Given the description of an element on the screen output the (x, y) to click on. 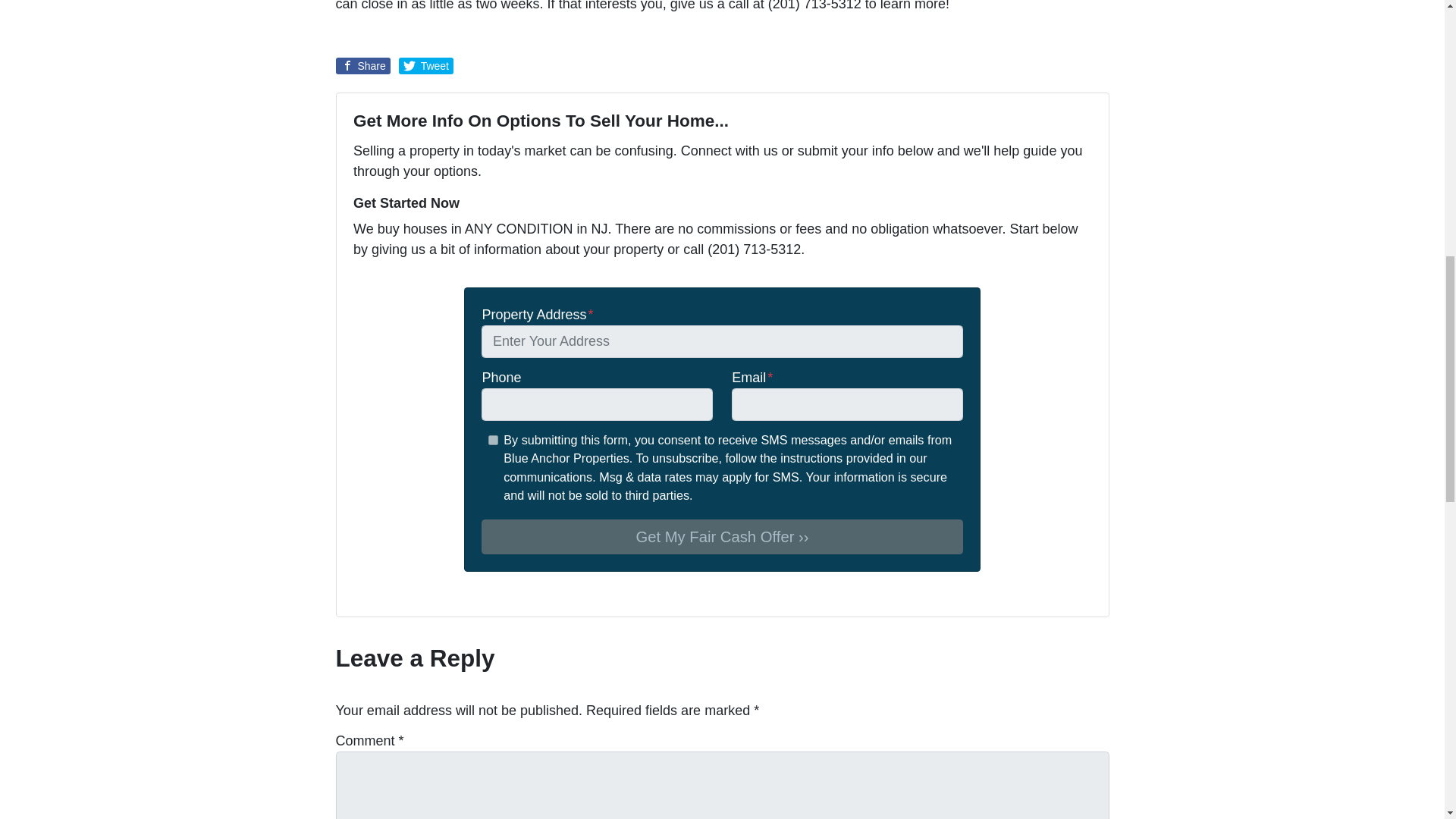
Tweet (425, 65)
Share on Twitter (425, 65)
Share (362, 65)
Share on Facebook (362, 65)
